Given the description of an element on the screen output the (x, y) to click on. 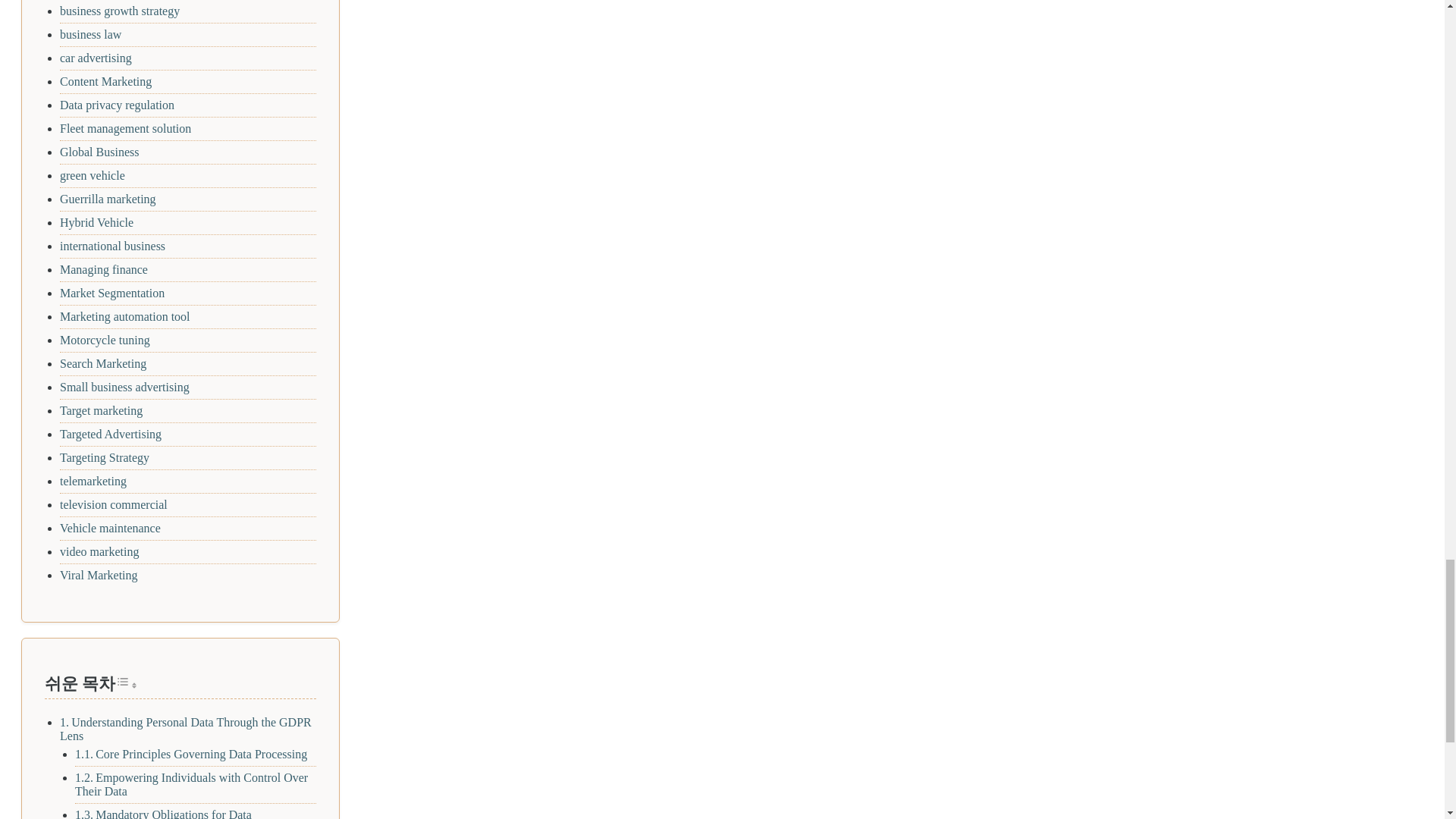
Empowering Individuals with Control Over Their Data (191, 783)
Understanding Personal Data Through the GDPR Lens (185, 728)
Core Principles Governing Data Processing (201, 753)
